Given the description of an element on the screen output the (x, y) to click on. 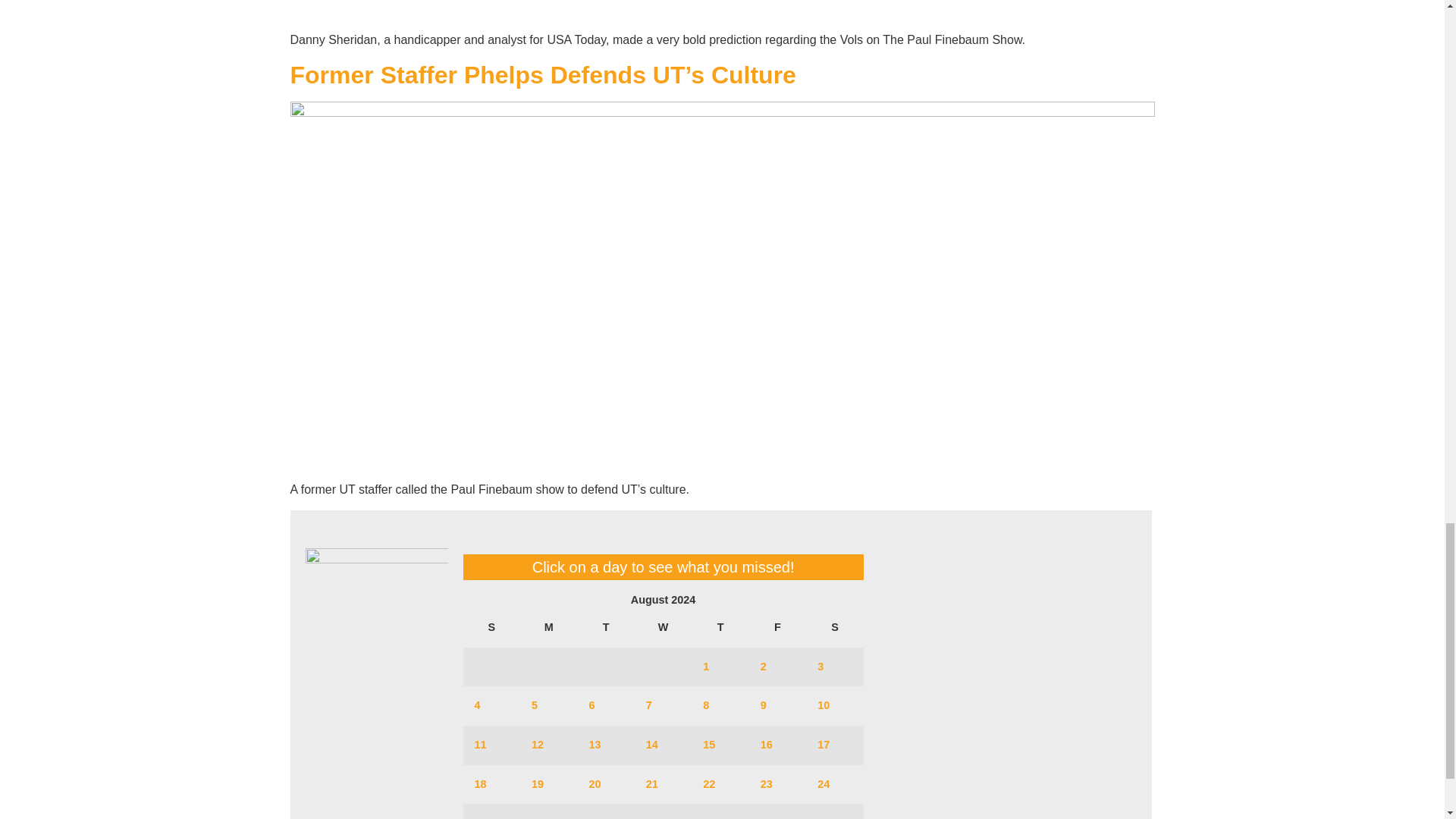
Tuesday (604, 627)
Monday (547, 627)
Thursday (719, 627)
Friday (777, 627)
Wednesday (662, 627)
Saturday (834, 627)
Sunday (491, 627)
